Given the description of an element on the screen output the (x, y) to click on. 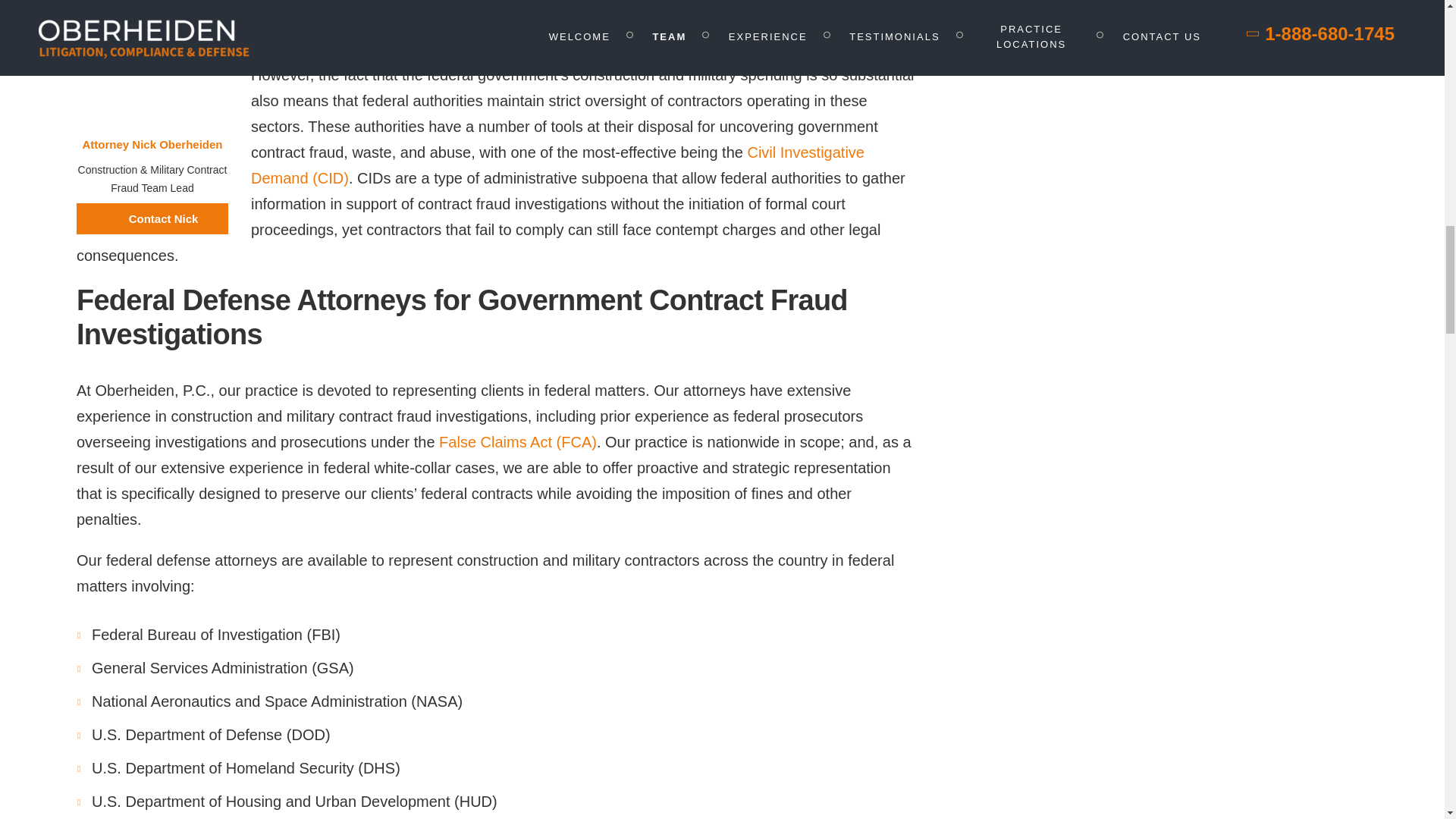
data (265, 8)
Contact Nick (152, 219)
Attorney Nick Oberheiden (151, 144)
